Given the description of an element on the screen output the (x, y) to click on. 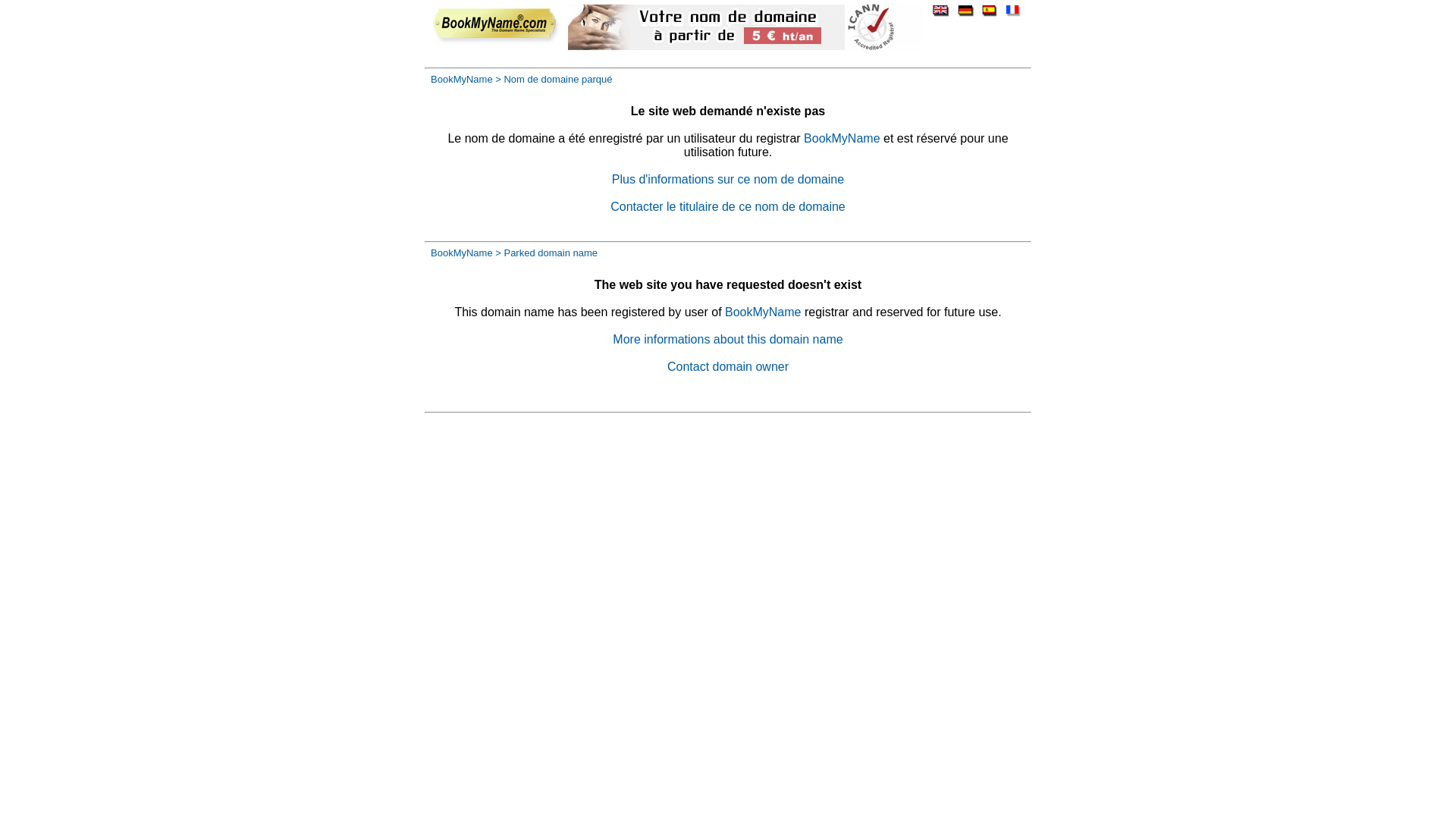
BookMyName Element type: text (841, 137)
Contact domain owner Element type: text (727, 366)
BookMyName Element type: text (762, 311)
BookMyName Element type: text (461, 78)
Plus d'informations sur ce nom de domaine Element type: text (727, 178)
More informations about this domain name Element type: text (727, 338)
BookMyName Element type: text (461, 252)
Contacter le titulaire de ce nom de domaine Element type: text (727, 206)
